Given the description of an element on the screen output the (x, y) to click on. 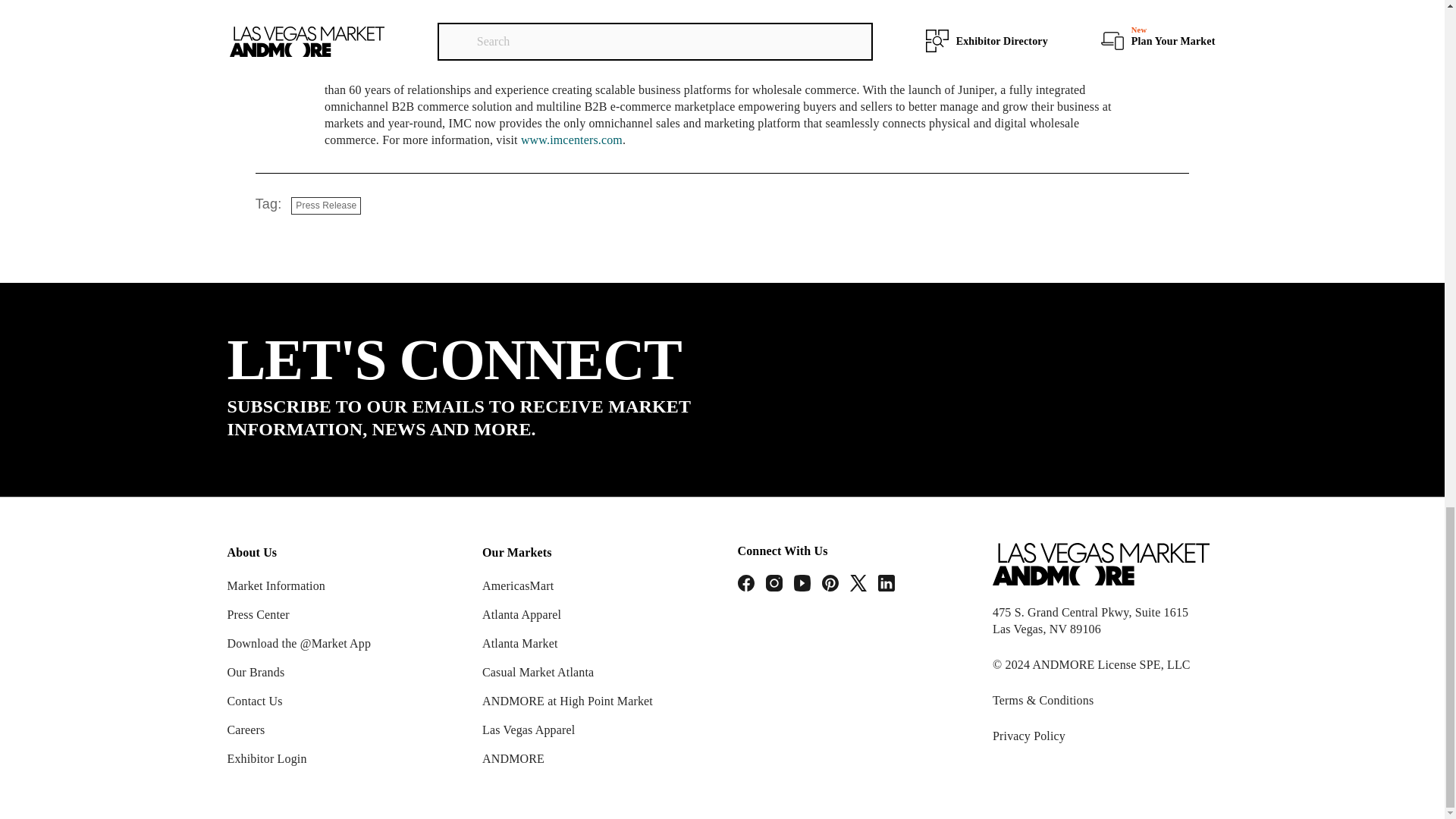
www.imcenters.com (572, 139)
Press Center (258, 614)
Market Information (276, 585)
About Us (347, 552)
